Given the description of an element on the screen output the (x, y) to click on. 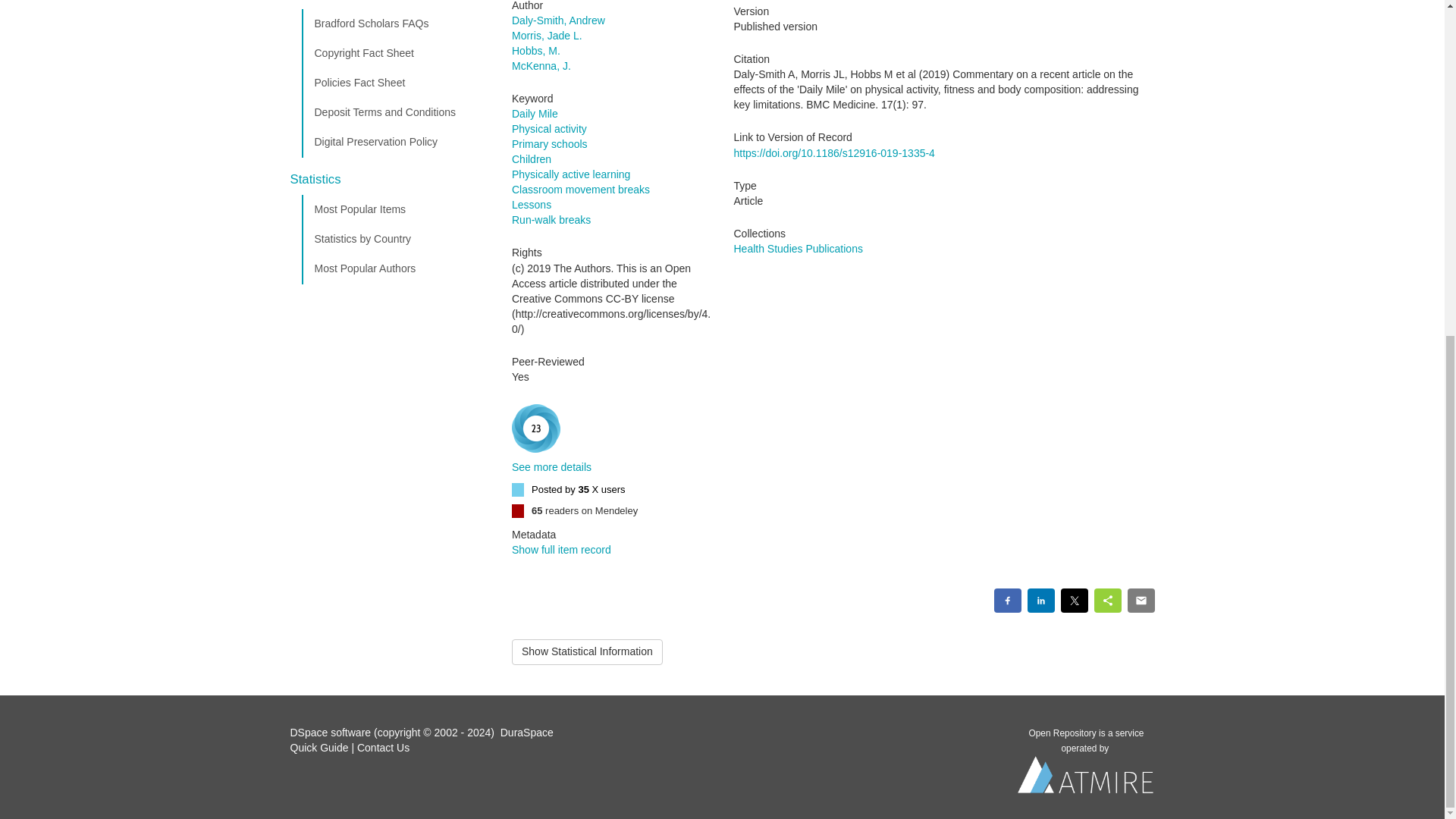
Digital Preservation Policy (395, 142)
Statistics by Country (395, 239)
Deposit Terms and Conditions (395, 112)
Most Popular Items (395, 209)
Bradford Scholars FAQs (395, 24)
Atmire NV (1085, 779)
Most Popular Authors (395, 268)
Copyright Fact Sheet (395, 53)
Policies Fact Sheet (395, 82)
